Given the description of an element on the screen output the (x, y) to click on. 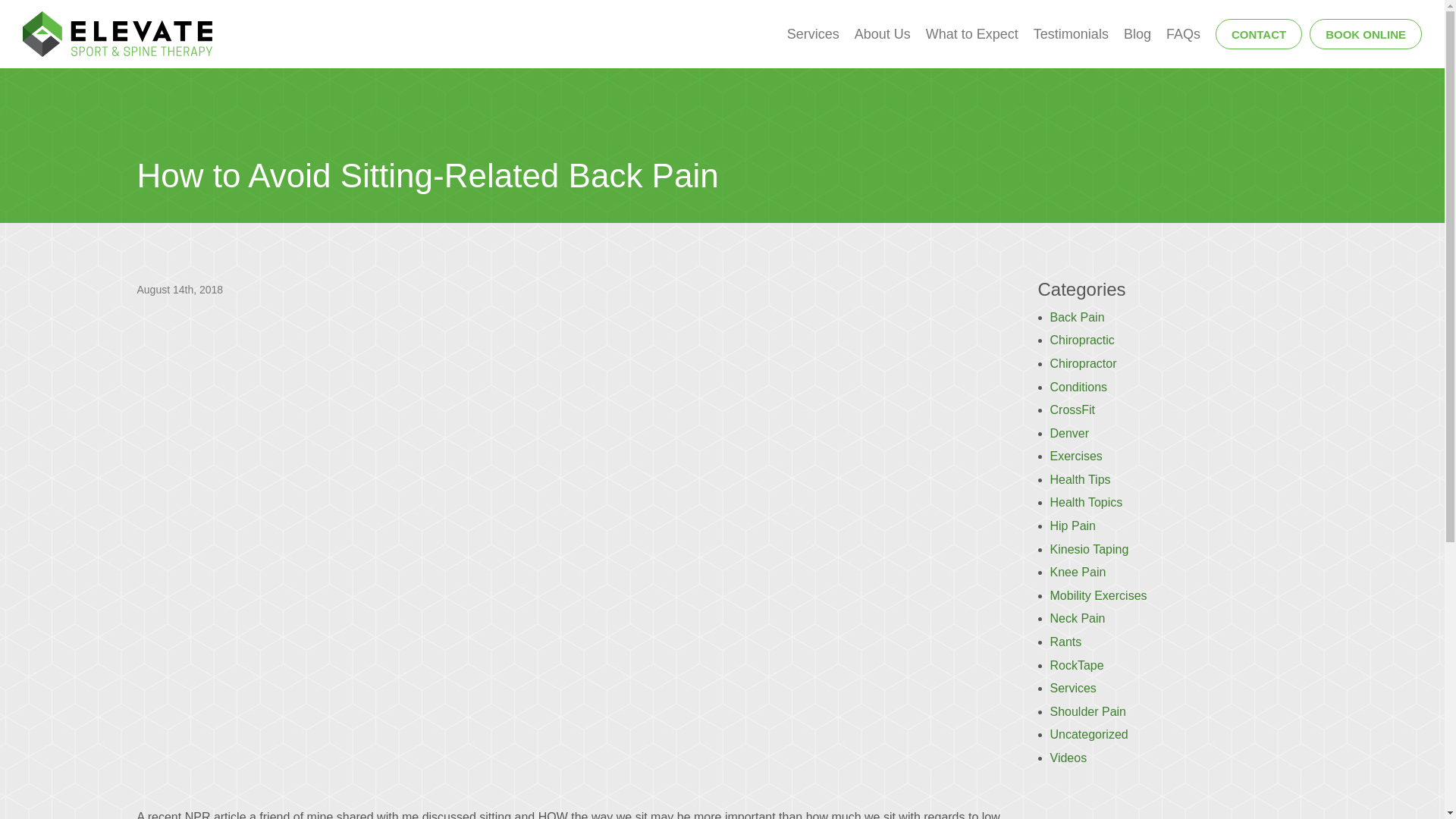
Chiropractic (1081, 339)
Blog (1137, 33)
Services (1072, 687)
Testimonials (1071, 33)
About Us (882, 33)
Shoulder Pain (1087, 711)
Denver (1069, 432)
Chiropractor (1082, 363)
Exercises (1075, 455)
Mobility Exercises (1098, 594)
